Given the description of an element on the screen output the (x, y) to click on. 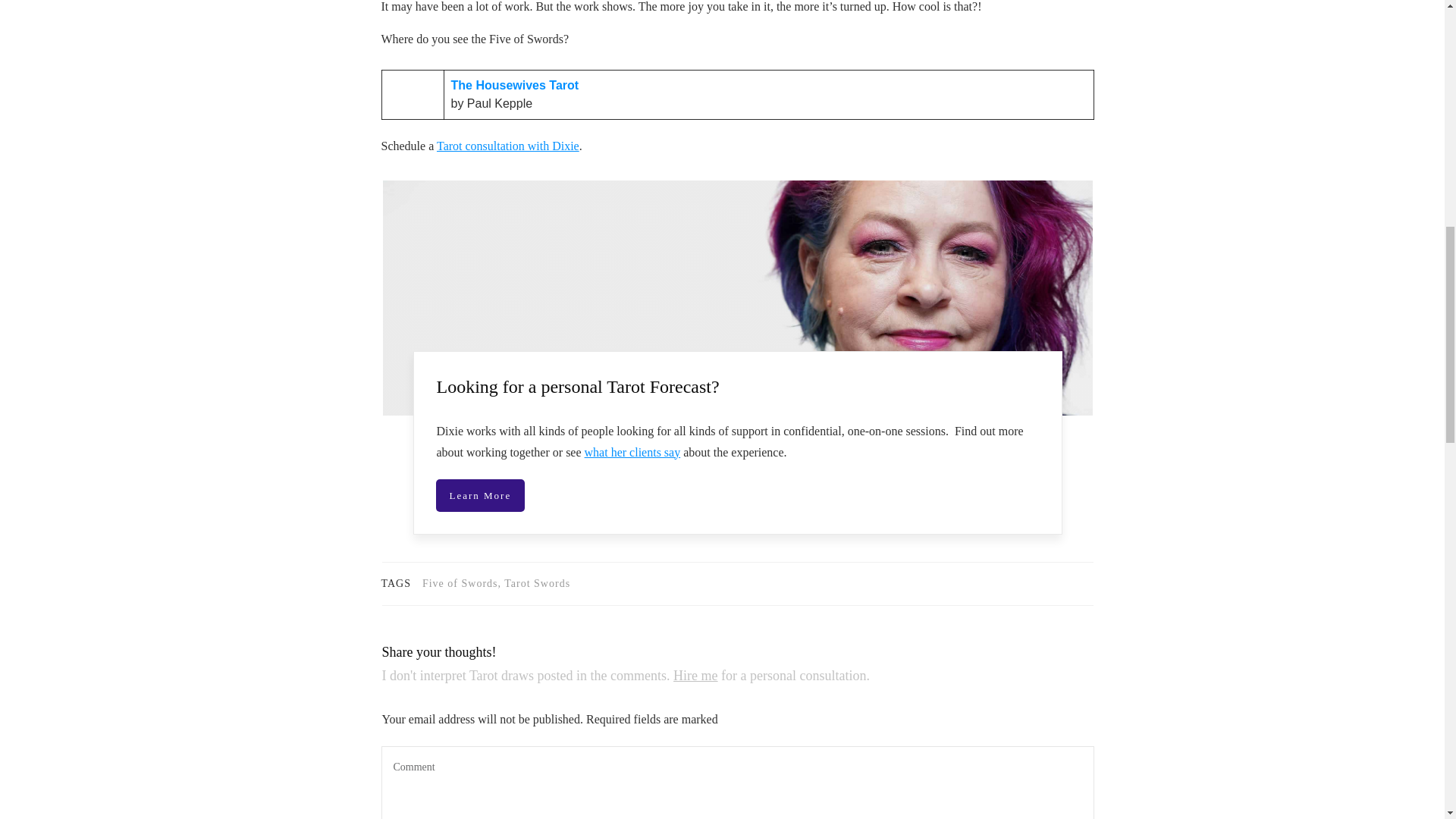
Tarot consultation with Dixie (507, 145)
Hire me (694, 675)
The Housewives Tarot (513, 84)
Learn More (479, 495)
what her clients say (633, 451)
